Given the description of an element on the screen output the (x, y) to click on. 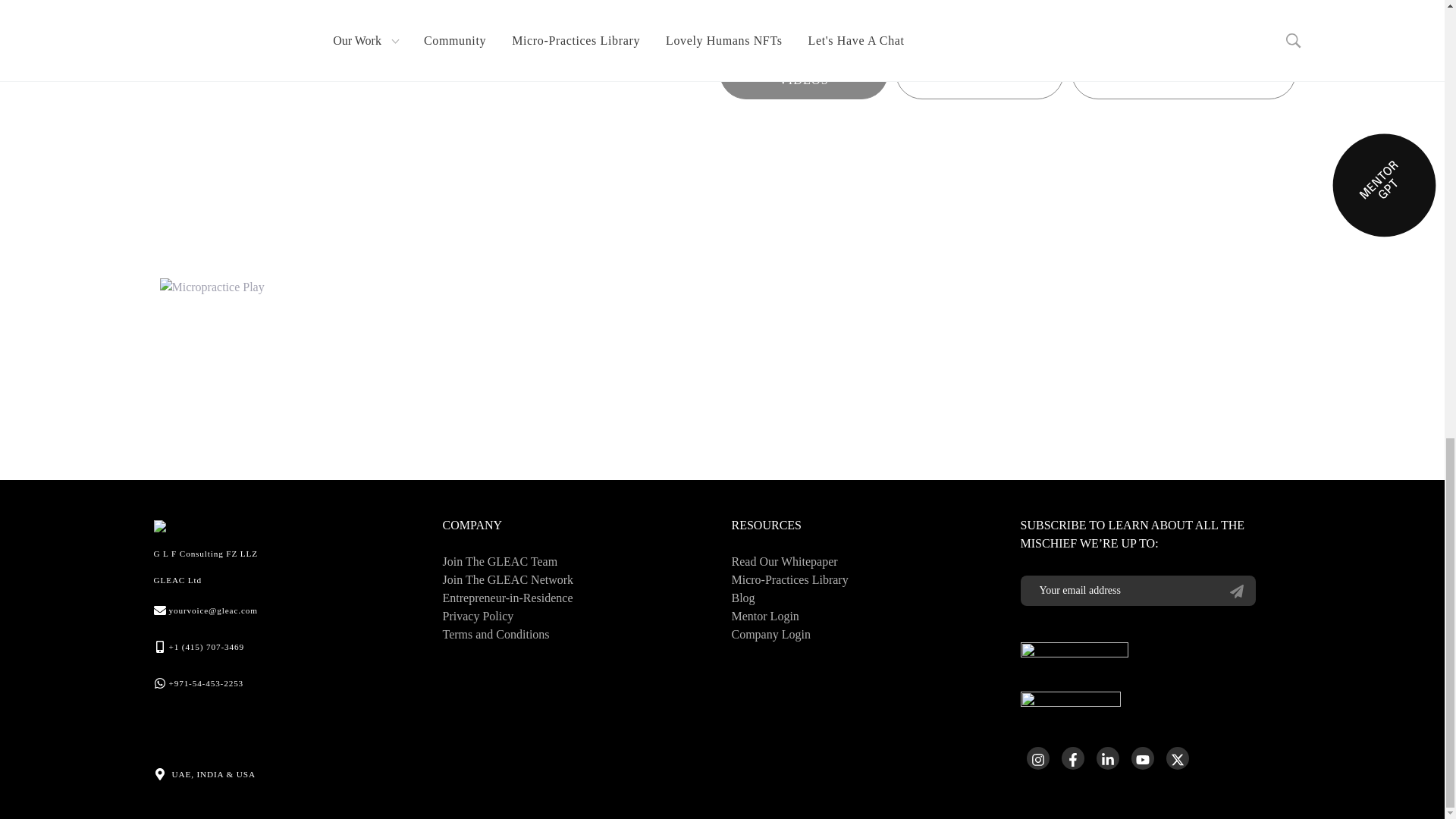
Read Our Whitepaper (783, 561)
Privacy Policy (477, 616)
LESSONS FROM MENTOR (1183, 72)
Entrepreneur-in-Residence (507, 597)
Join The GLEAC Team (499, 561)
Terms and Conditions (496, 634)
Join The GLEAC Network (507, 579)
BLOG ARTICLES (979, 72)
TALK SHOW VIDEOS (803, 72)
